Given the description of an element on the screen output the (x, y) to click on. 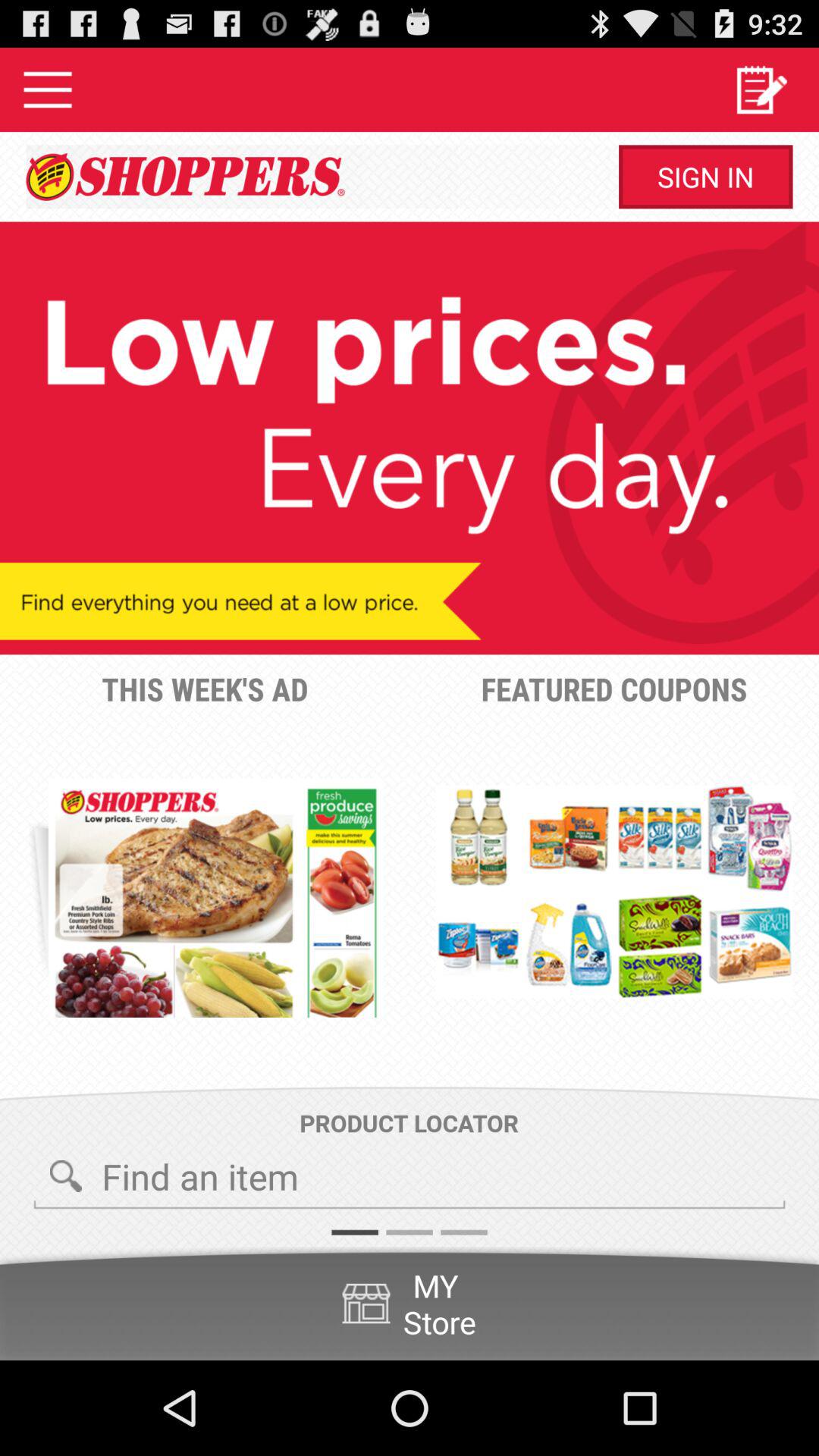
choose the item next to the featured coupons (215, 898)
